Given the description of an element on the screen output the (x, y) to click on. 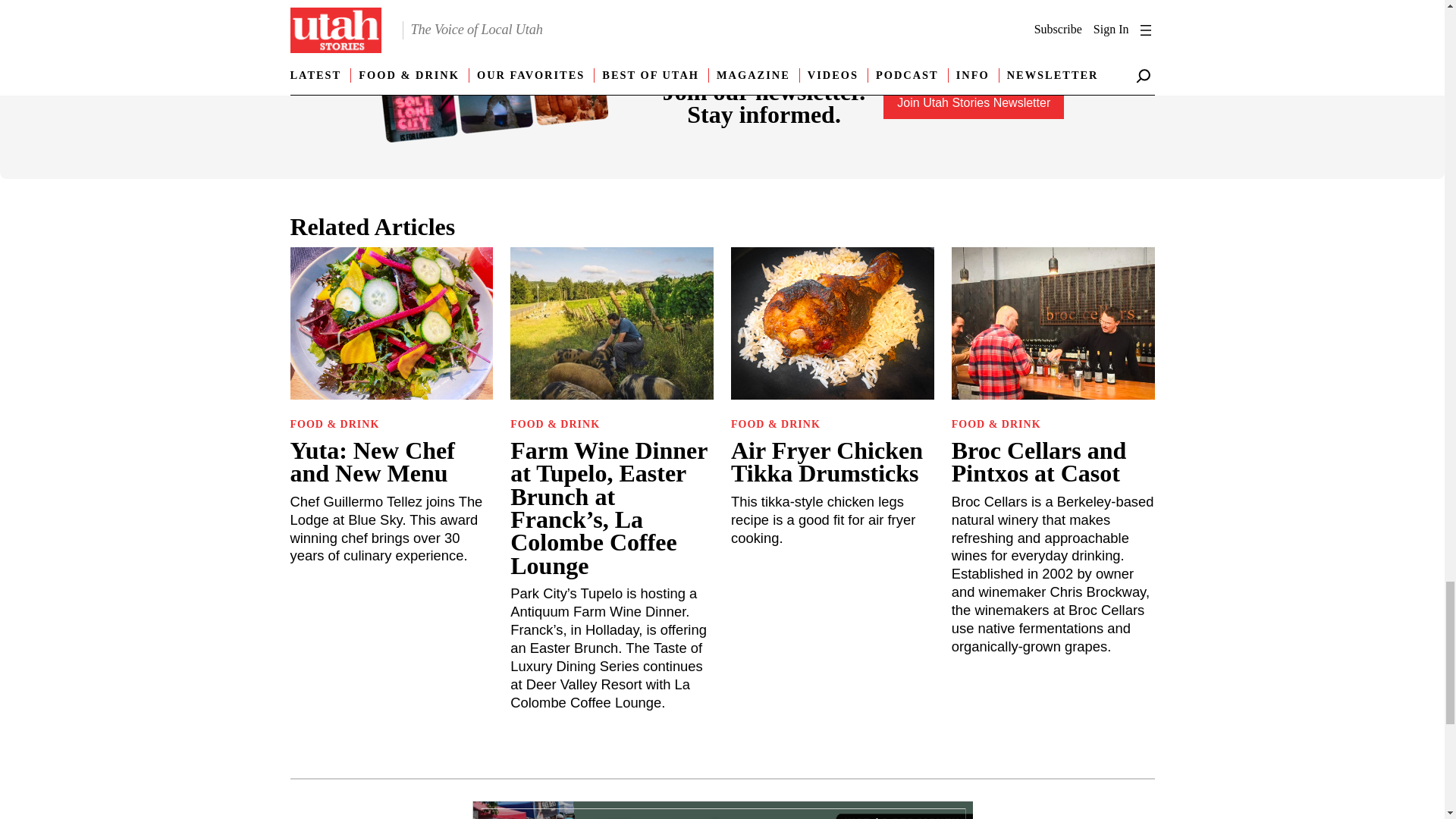
Subscription banner ad (721, 809)
